Given the description of an element on the screen output the (x, y) to click on. 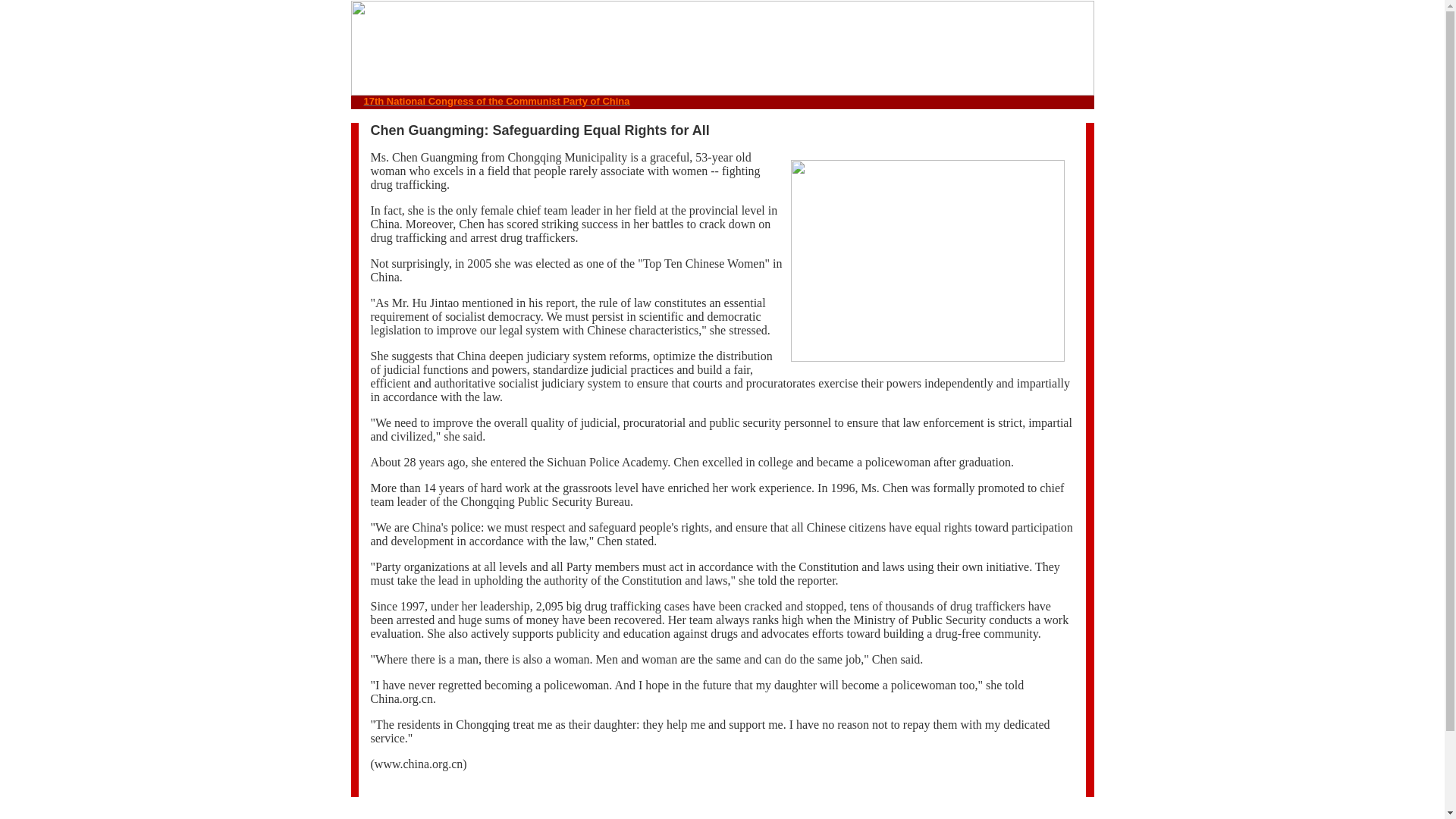
17th National Congress of the Communist Party of China (497, 101)
